Given the description of an element on the screen output the (x, y) to click on. 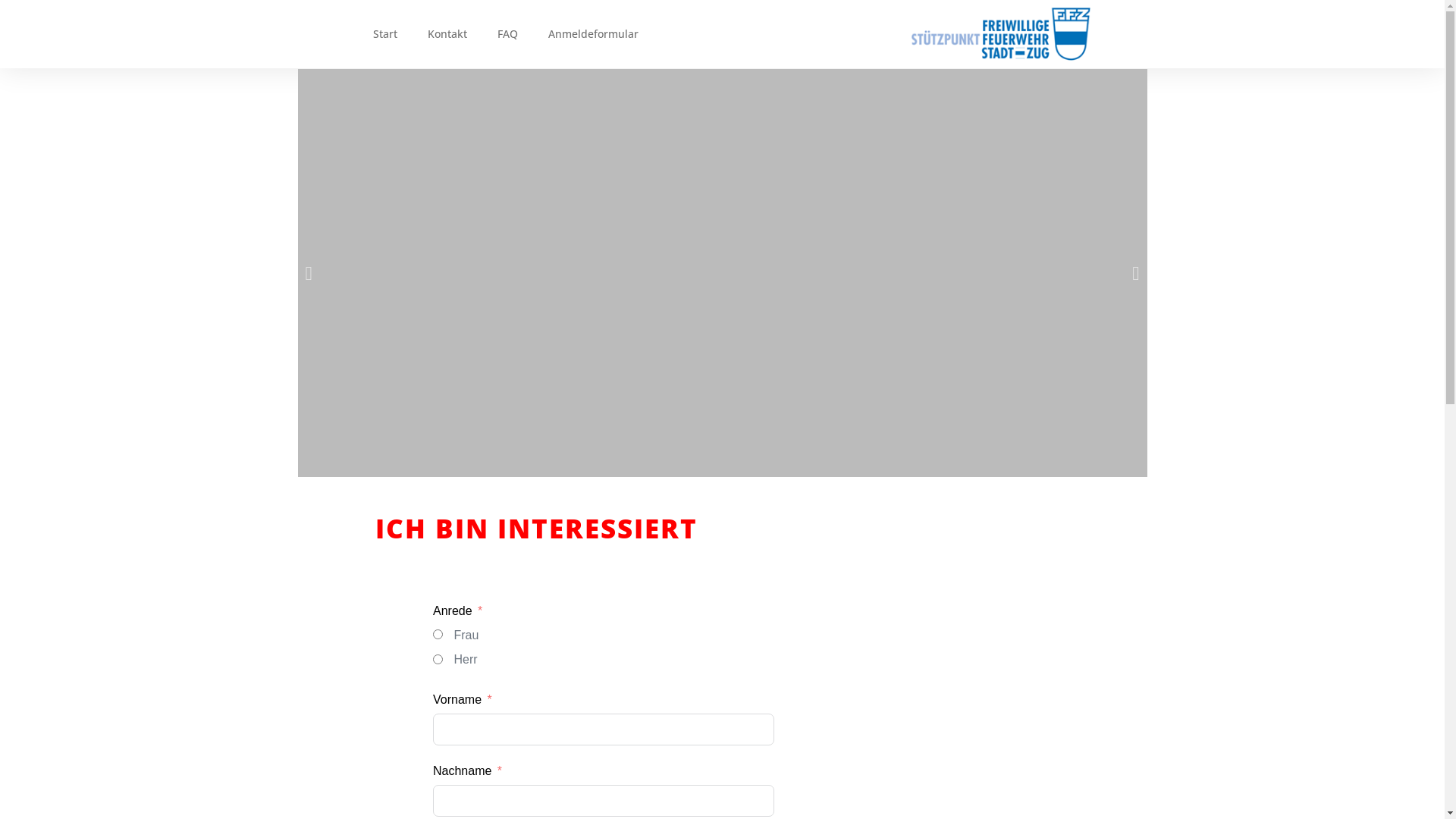
Anmeldeformular Element type: text (593, 34)
FAQ Element type: text (507, 34)
Kontakt Element type: text (447, 34)
Start Element type: text (384, 34)
